Given the description of an element on the screen output the (x, y) to click on. 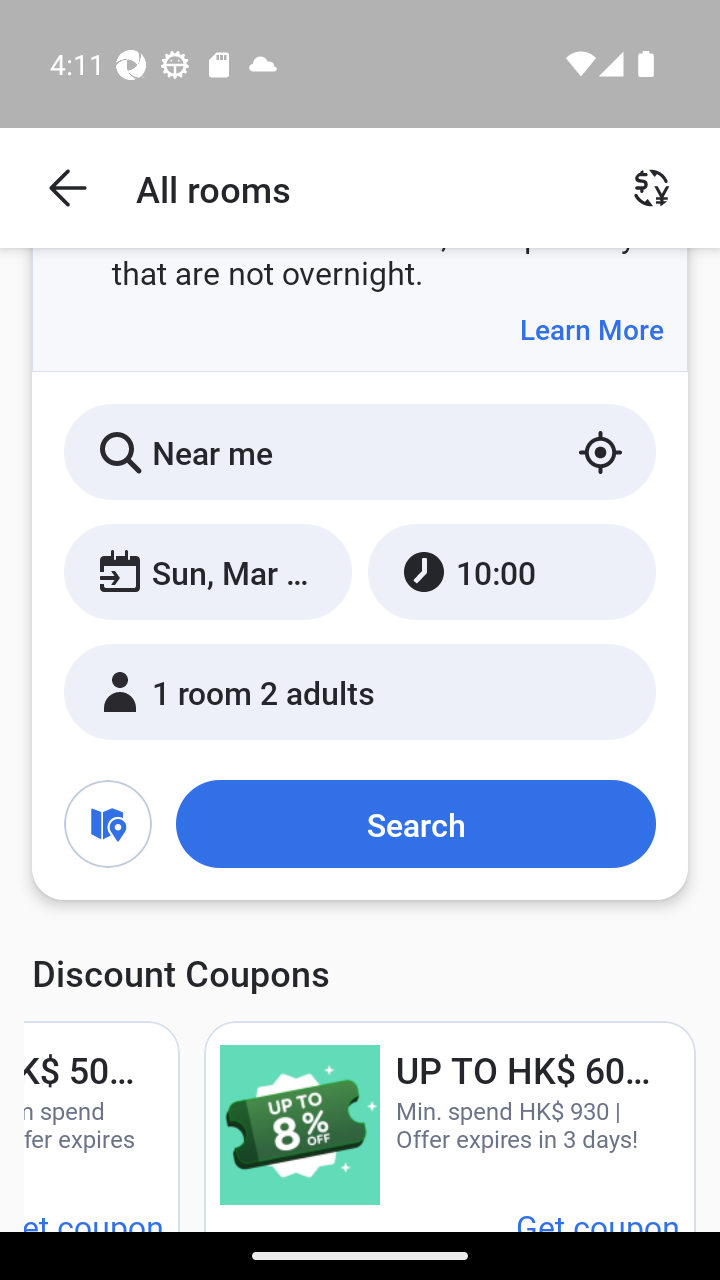
Learn More (591, 329)
Near me (359, 452)
Sun, Mar 10 (208, 571)
10:00 (511, 571)
1 room 2 adults (359, 691)
Search (415, 823)
